Given the description of an element on the screen output the (x, y) to click on. 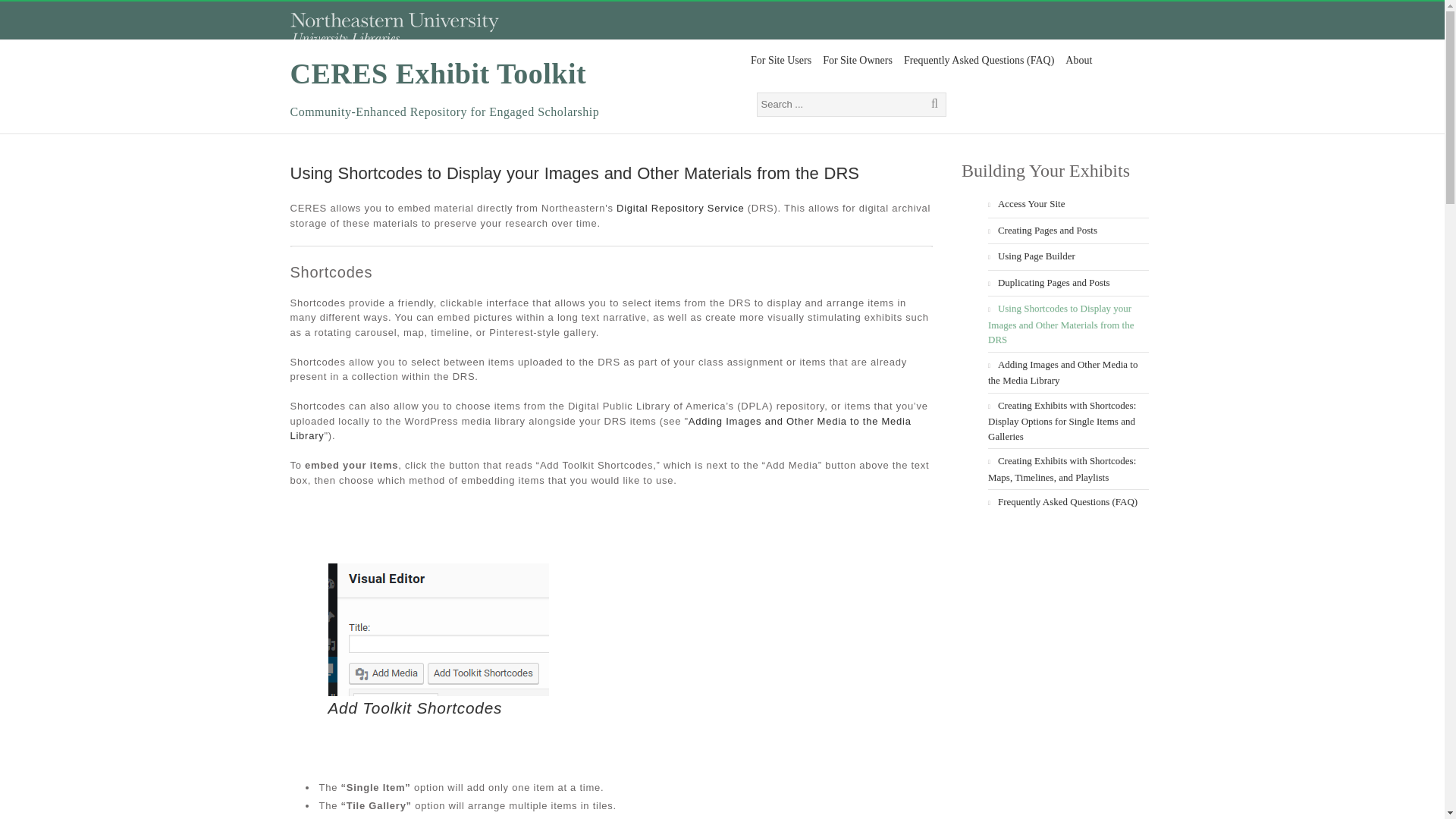
For Site Users (780, 60)
Adding Images and Other Media to the Media Library (1062, 371)
Using Page Builder (1036, 255)
Add Toolkit Shortcodes (414, 707)
For Site Owners (857, 60)
Duplicating Pages and Posts (1053, 281)
Northeastern University (393, 31)
